Given the description of an element on the screen output the (x, y) to click on. 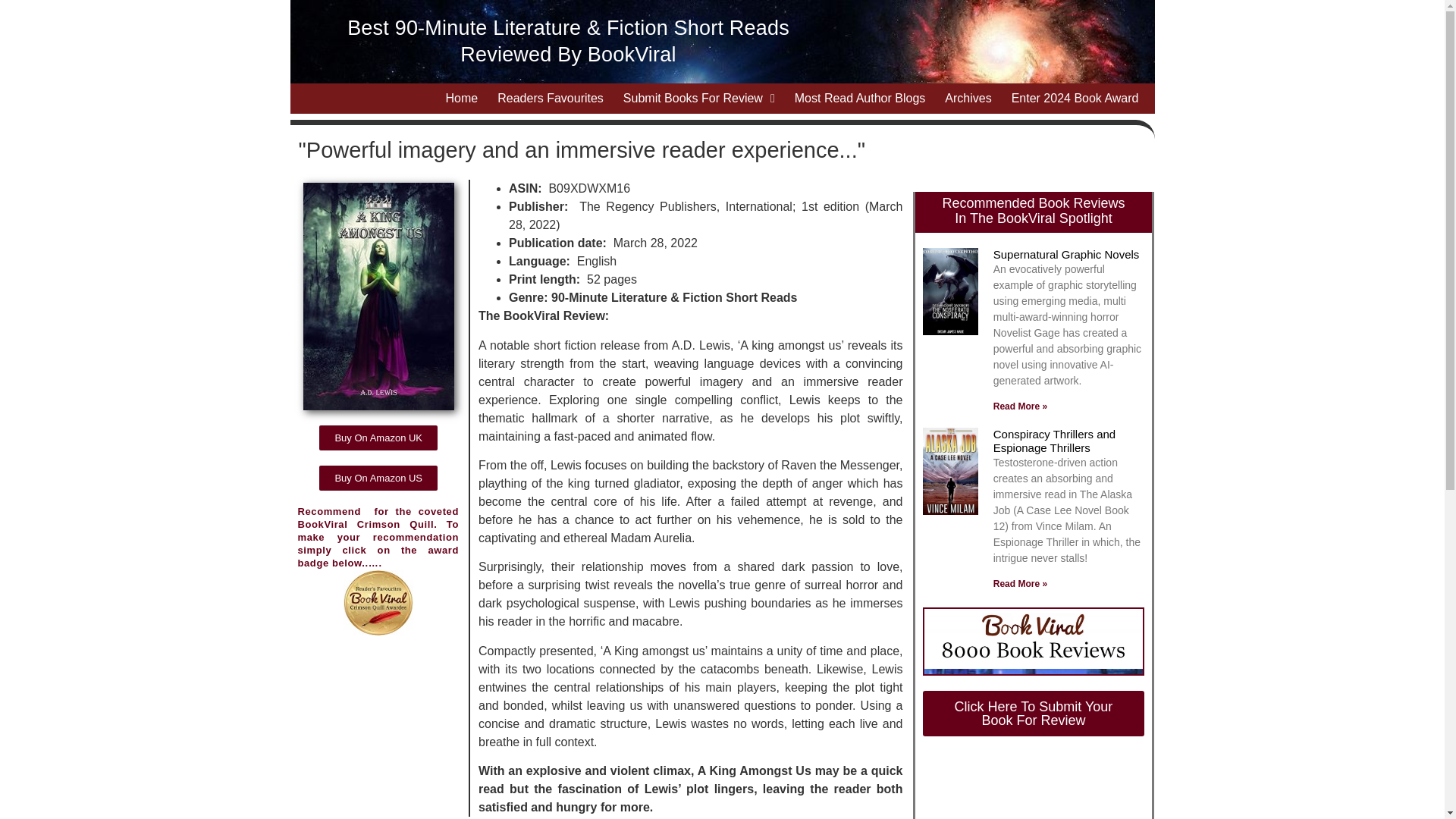
Buy On Amazon US (378, 478)
Most Read Author Blogs (860, 98)
Enter 2024 Book Award (1075, 98)
Click Here To Submit Your Book For Review (1032, 713)
Supernatural Graphic Novels (1066, 254)
Archives (967, 98)
Submit Books For Review (698, 98)
Buy On Amazon UK (378, 437)
Readers Favourites (550, 98)
Home (462, 98)
